Given the description of an element on the screen output the (x, y) to click on. 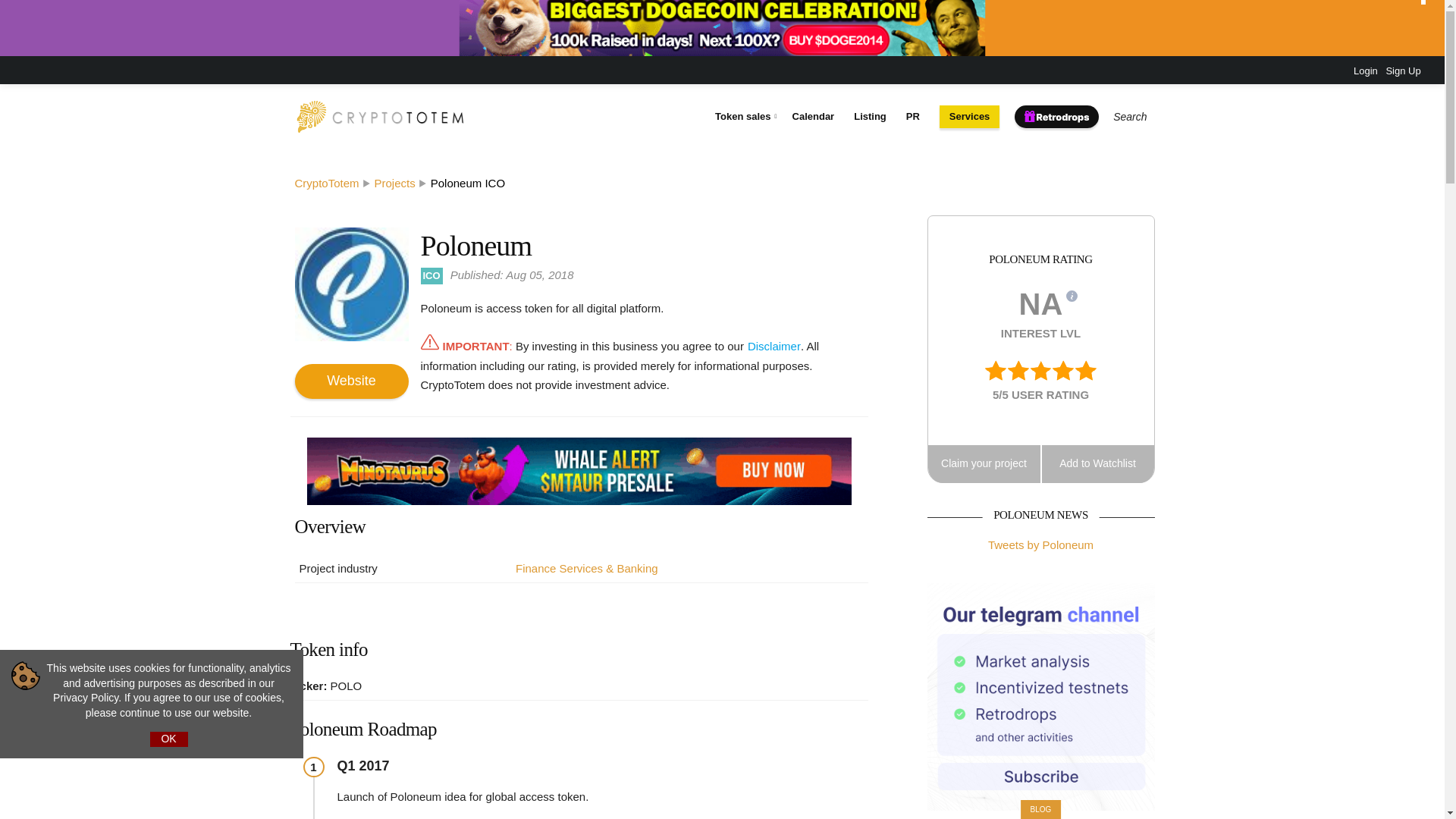
Projects (394, 182)
Aug 05, 2018, 05:19:34 pm (511, 274)
Login (1365, 70)
  Search (1126, 116)
Services (969, 116)
Poloneum Disclaimer and User Warranties (774, 346)
Sign Up (1403, 70)
Tweets by Poloneum (1040, 544)
CryptoTotem (326, 182)
Poloneum ICO (467, 182)
